Given the description of an element on the screen output the (x, y) to click on. 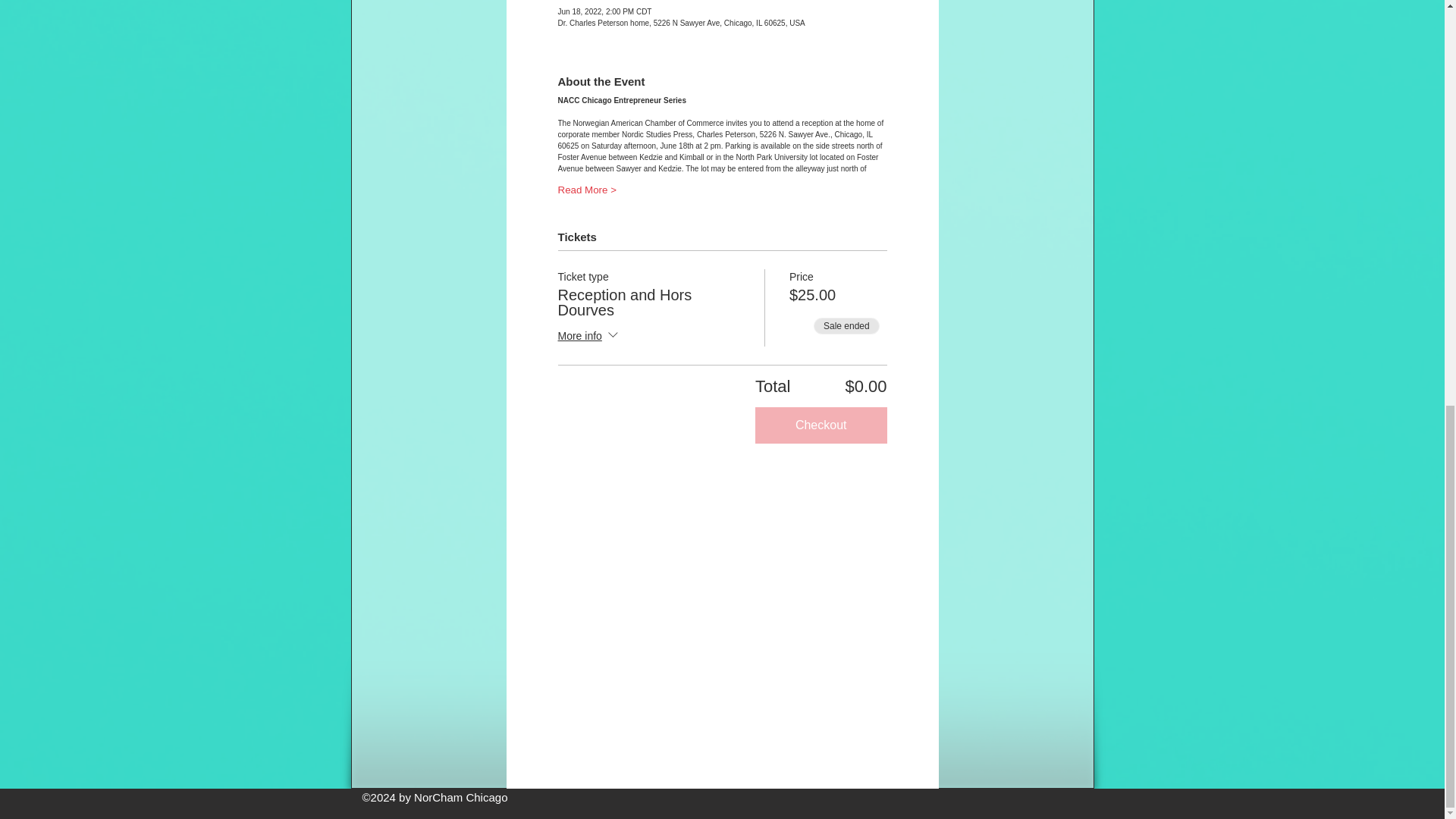
Checkout (820, 425)
More info (589, 336)
Map (722, 623)
